Given the description of an element on the screen output the (x, y) to click on. 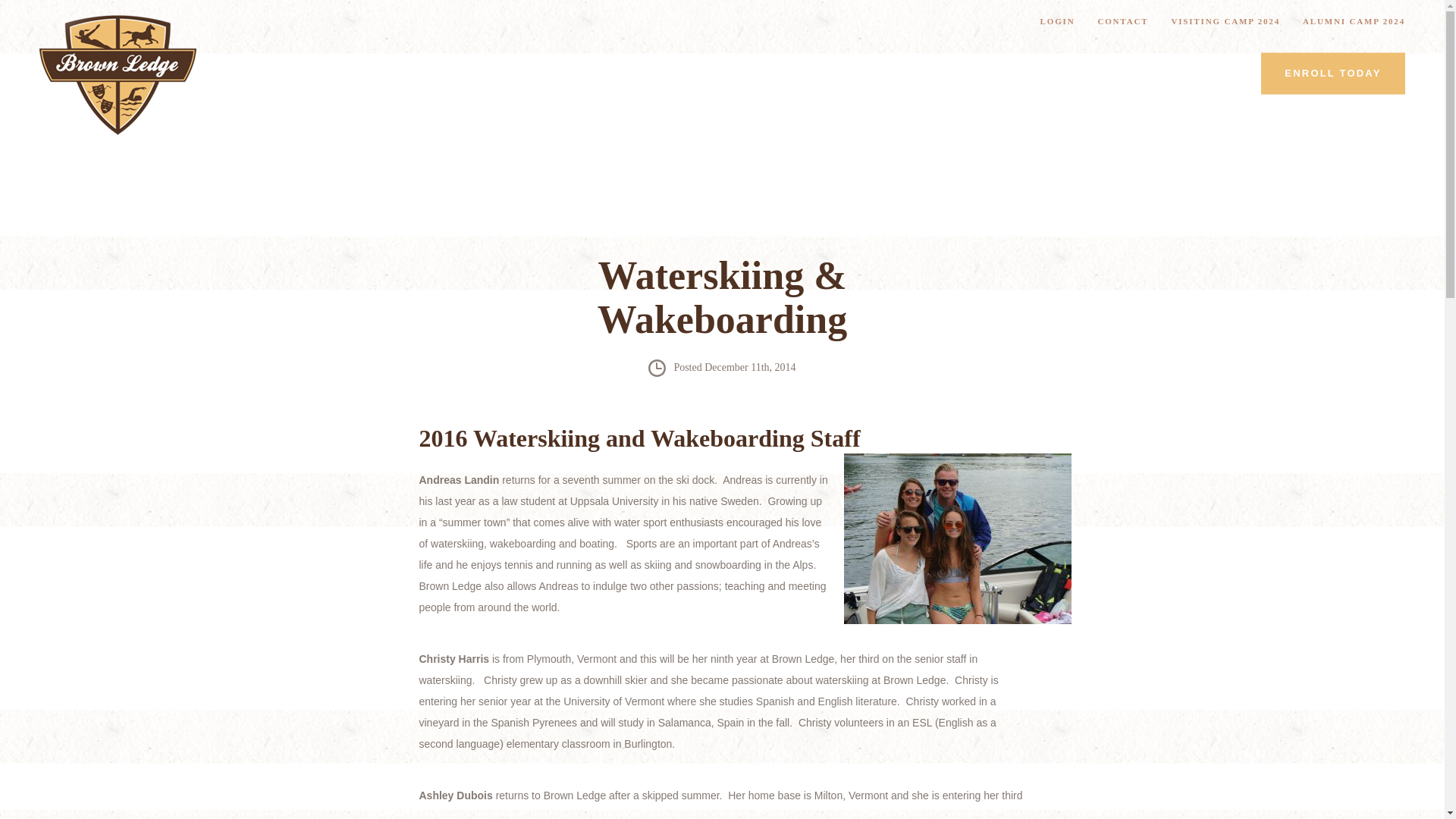
PARENTS (730, 73)
CAMP LIFE (520, 73)
STAFF (816, 73)
home (117, 72)
ACTIVITIES (626, 73)
ALUMNI (898, 73)
STORE (981, 73)
ABOUT (425, 73)
